Given the description of an element on the screen output the (x, y) to click on. 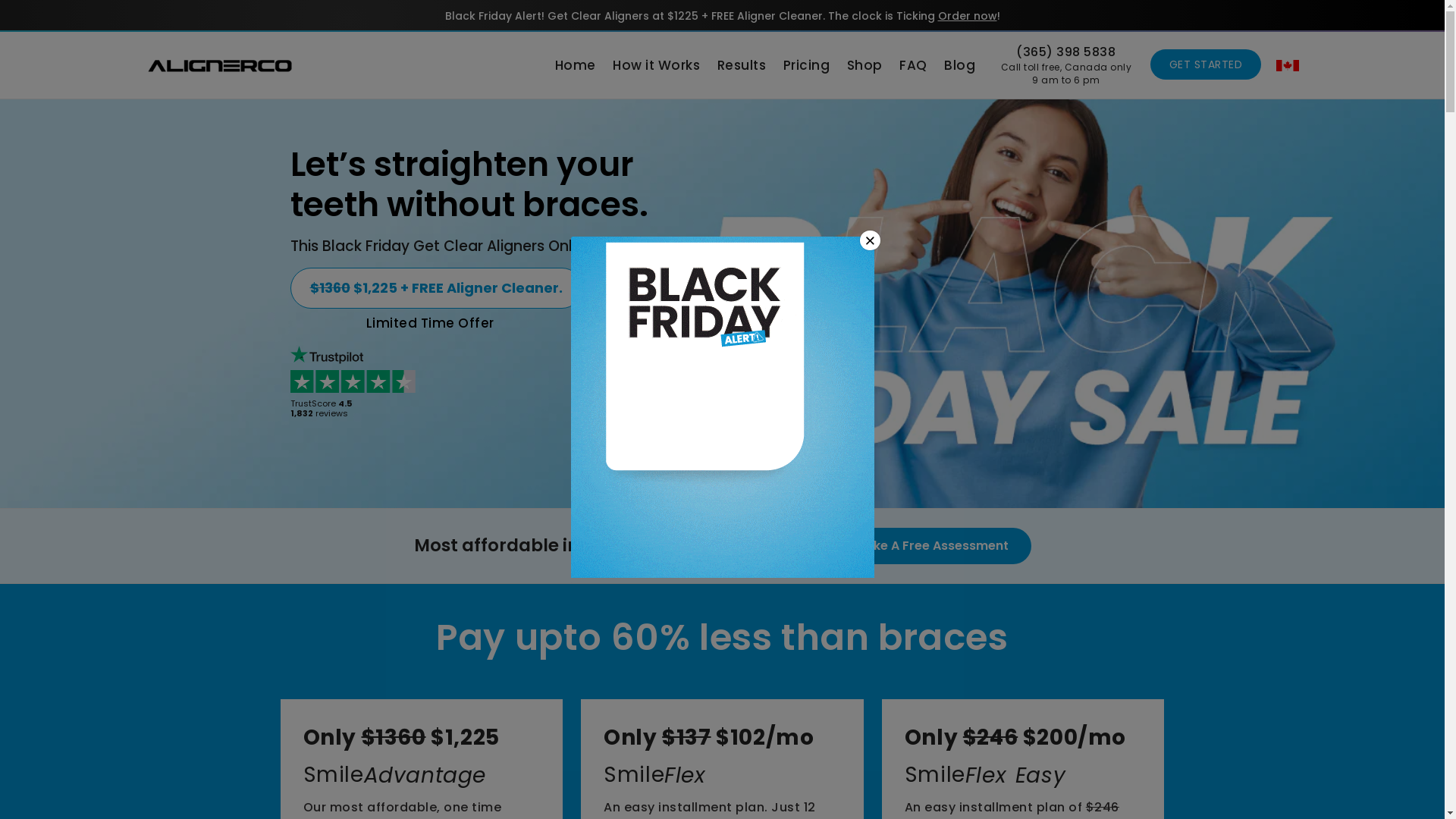
GET STARTED Element type: text (1205, 64)
Order now Element type: text (966, 15)
Pricing Element type: text (806, 65)
Results Element type: text (740, 65)
Take A Free Assessment Element type: text (932, 545)
FAQ Element type: text (913, 65)
Blog Element type: text (959, 65)
Shop Element type: text (864, 65)
Customer reviews powered by Trustpilot Element type: hover (355, 383)
Home Element type: text (574, 65)
How it Works Element type: text (655, 65)
$1360 $1,225 + FREE Aligner Cleaner. Element type: text (435, 287)
(365) 398 5838
Call toll free, Canada only
9 am to 6 pm Element type: text (1066, 65)
